Given the description of an element on the screen output the (x, y) to click on. 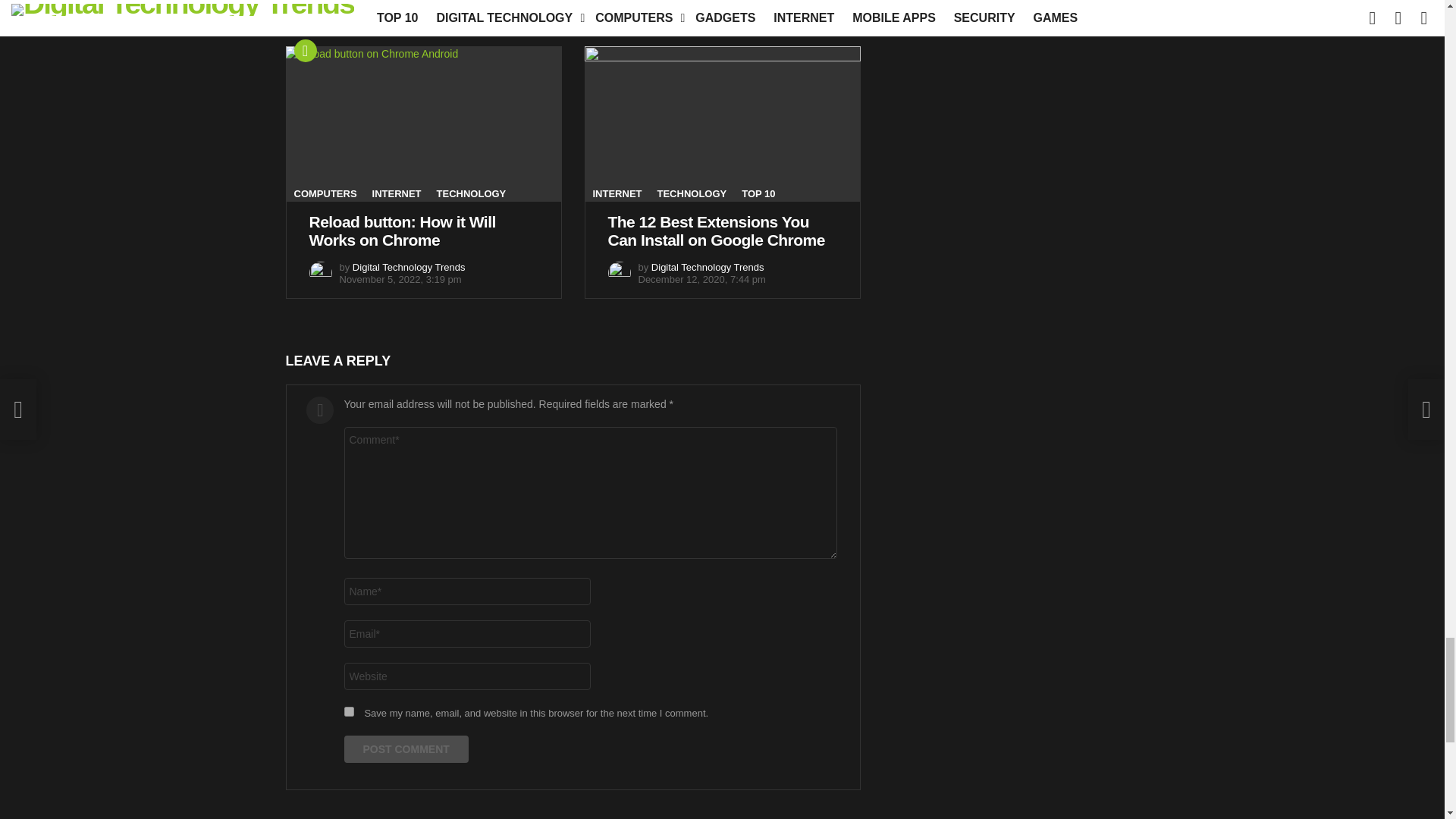
Reload button: How it Will Works on Chrome (422, 123)
Post Comment (405, 748)
Posts by Digital Technology Trends (408, 266)
The 12 Best Extensions You Can Install on Google Chrome (721, 123)
yes (348, 711)
Hot (305, 50)
